Given the description of an element on the screen output the (x, y) to click on. 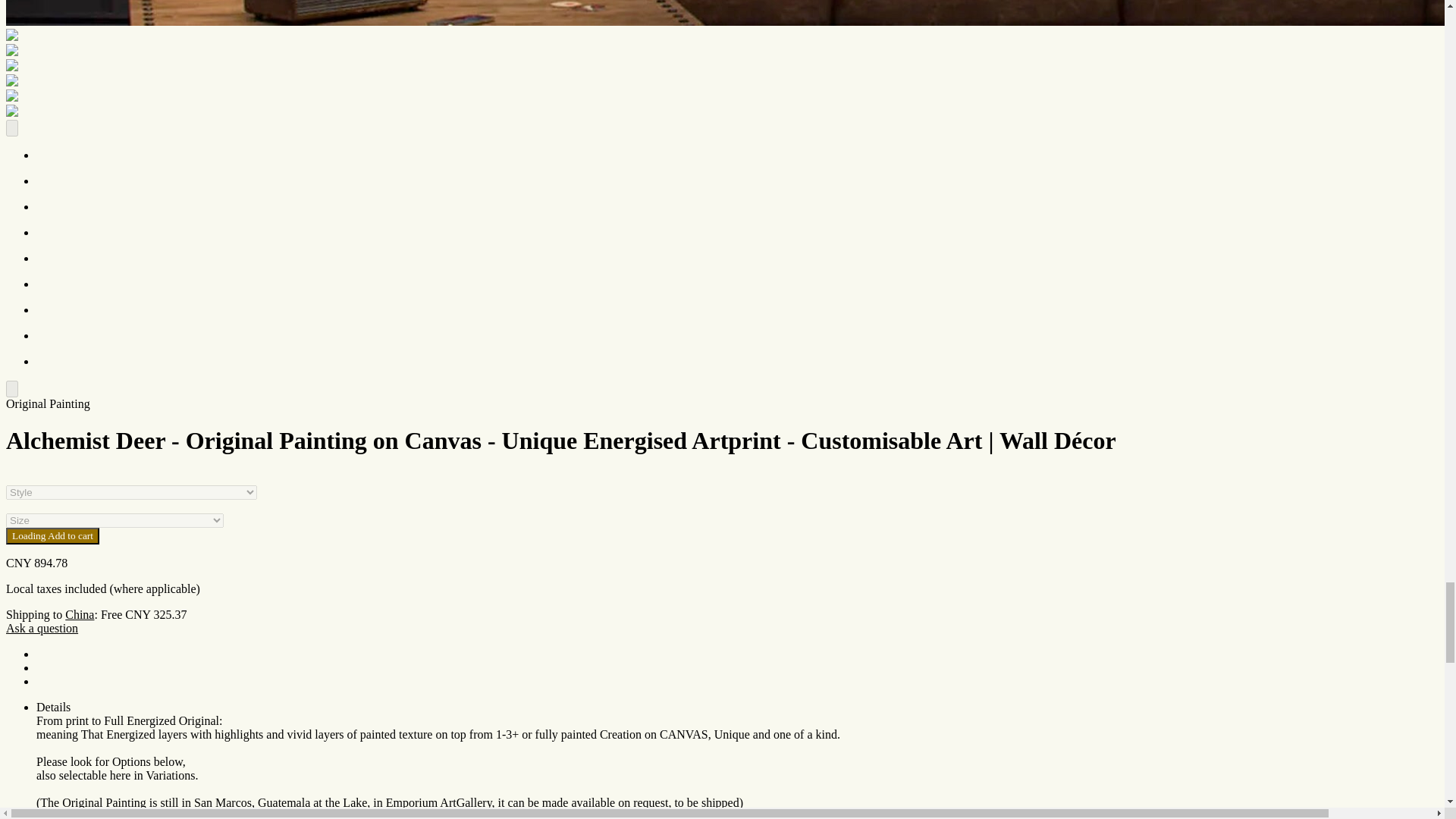
Ask a question (41, 627)
Loading Add to cart (52, 535)
China (79, 614)
